Given the description of an element on the screen output the (x, y) to click on. 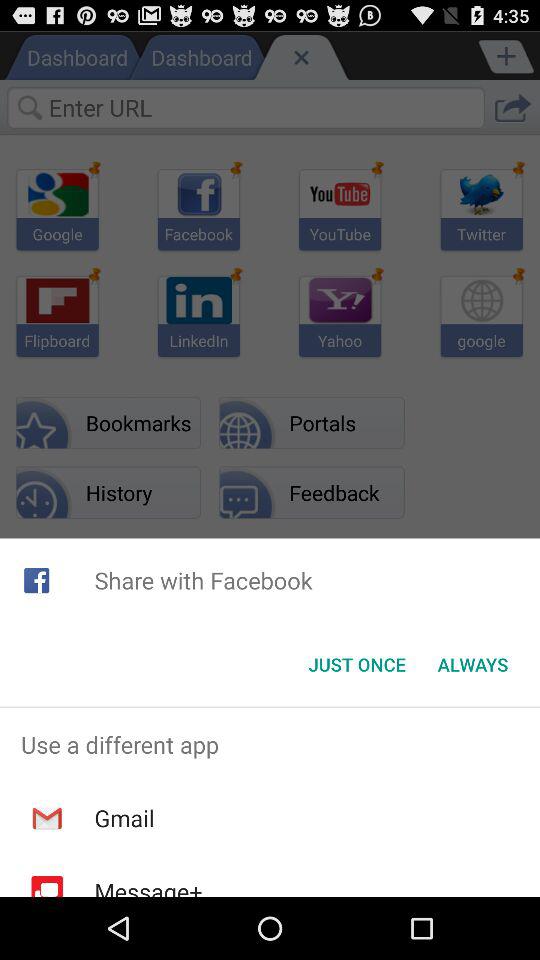
scroll to just once item (356, 664)
